Given the description of an element on the screen output the (x, y) to click on. 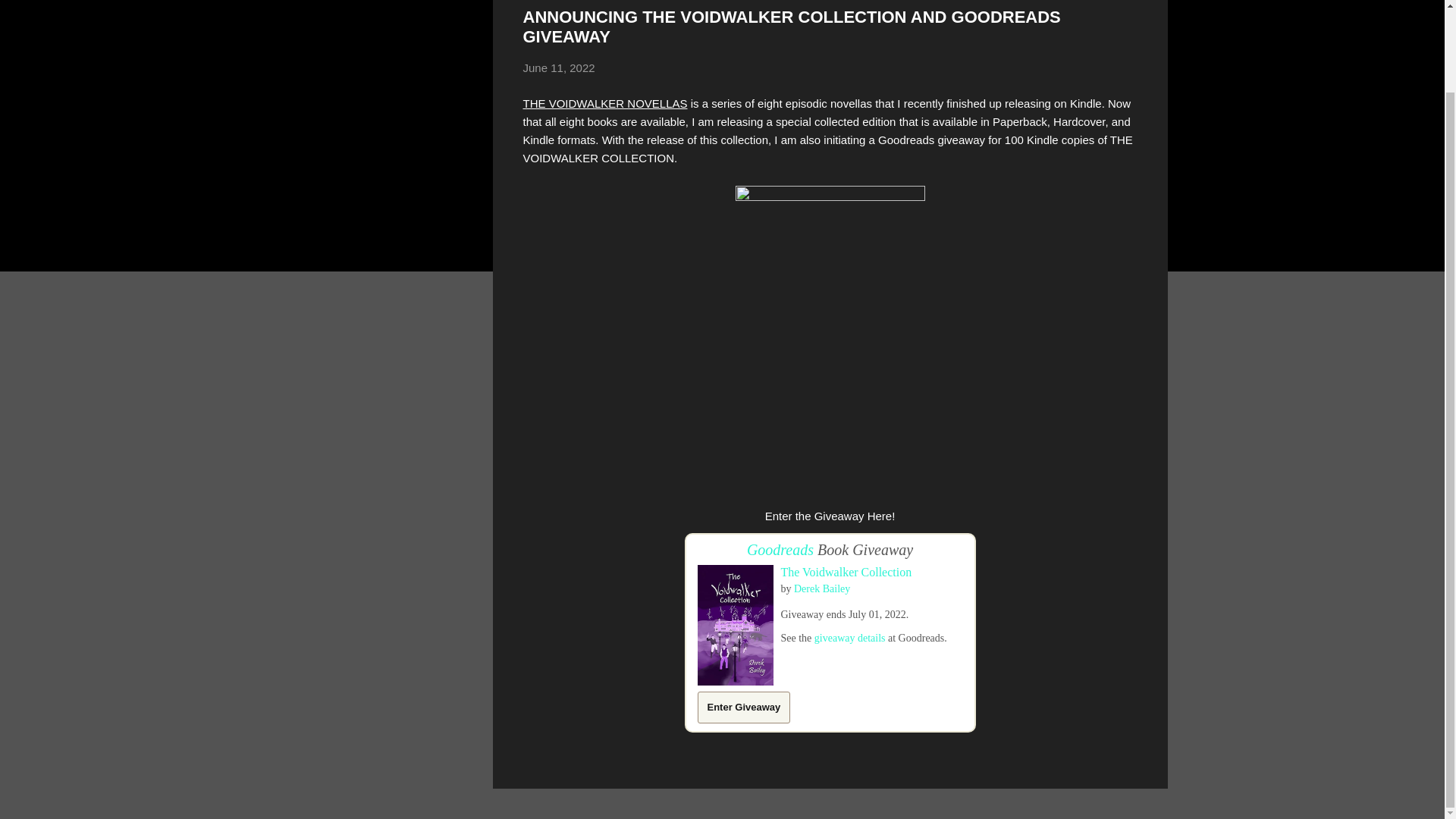
Derek Bailey (821, 587)
The Voidwalker Collection (846, 571)
June 11, 2022 (558, 67)
giveaway details (849, 637)
Enter Giveaway (743, 707)
permanent link (558, 67)
Goodreads (779, 549)
